Given the description of an element on the screen output the (x, y) to click on. 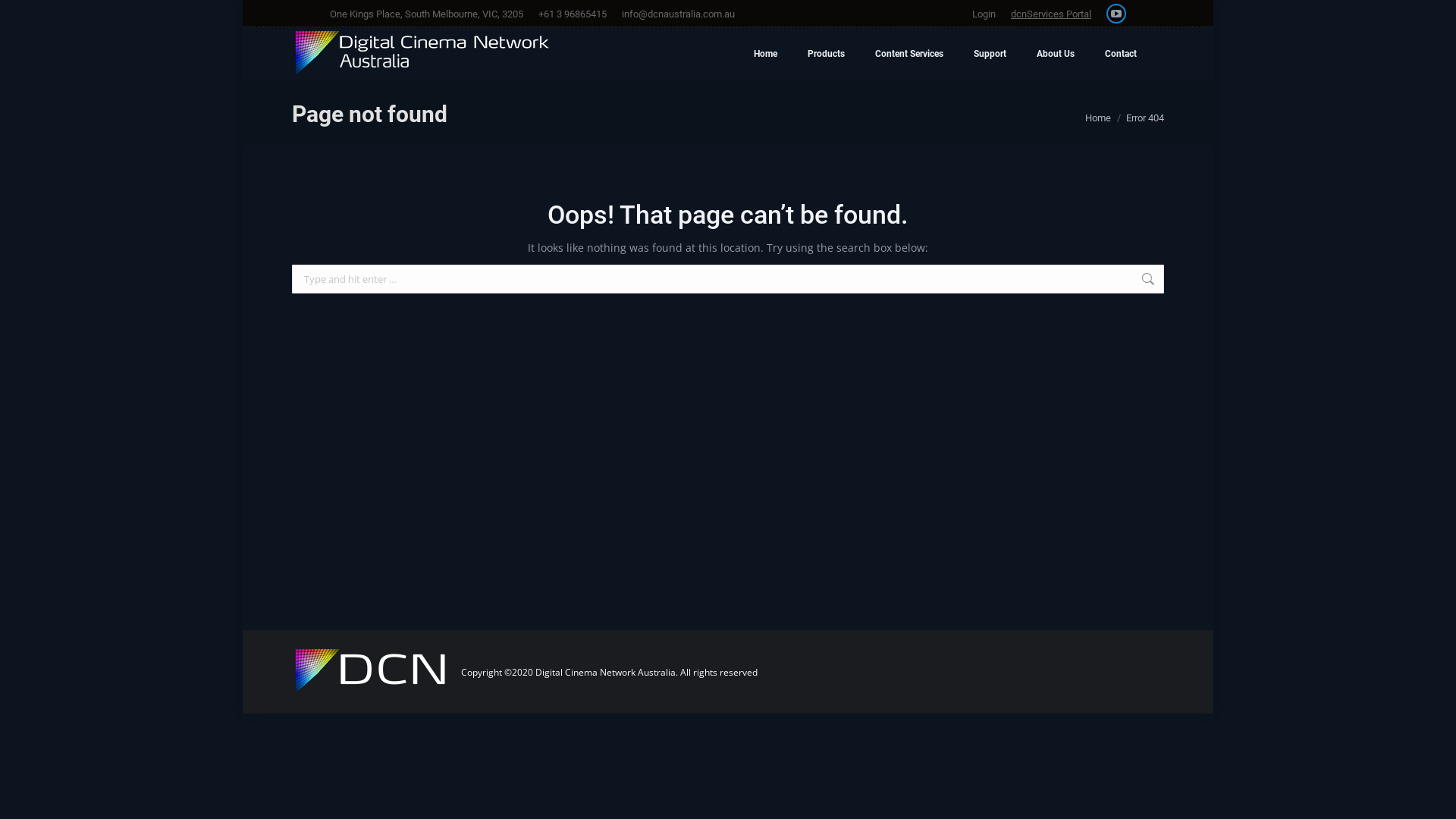
Home Element type: text (765, 53)
dcnServices Portal Element type: text (1050, 12)
Support Element type: text (989, 53)
Contact Element type: text (1120, 53)
About Us Element type: text (1055, 53)
Content Services Element type: text (908, 53)
Products Element type: text (826, 53)
Go! Element type: text (1187, 281)
Login Element type: text (983, 13)
Go! Element type: text (23, 16)
Home Element type: text (1097, 117)
YouTube page opens in new window Element type: text (1116, 13)
